Given the description of an element on the screen output the (x, y) to click on. 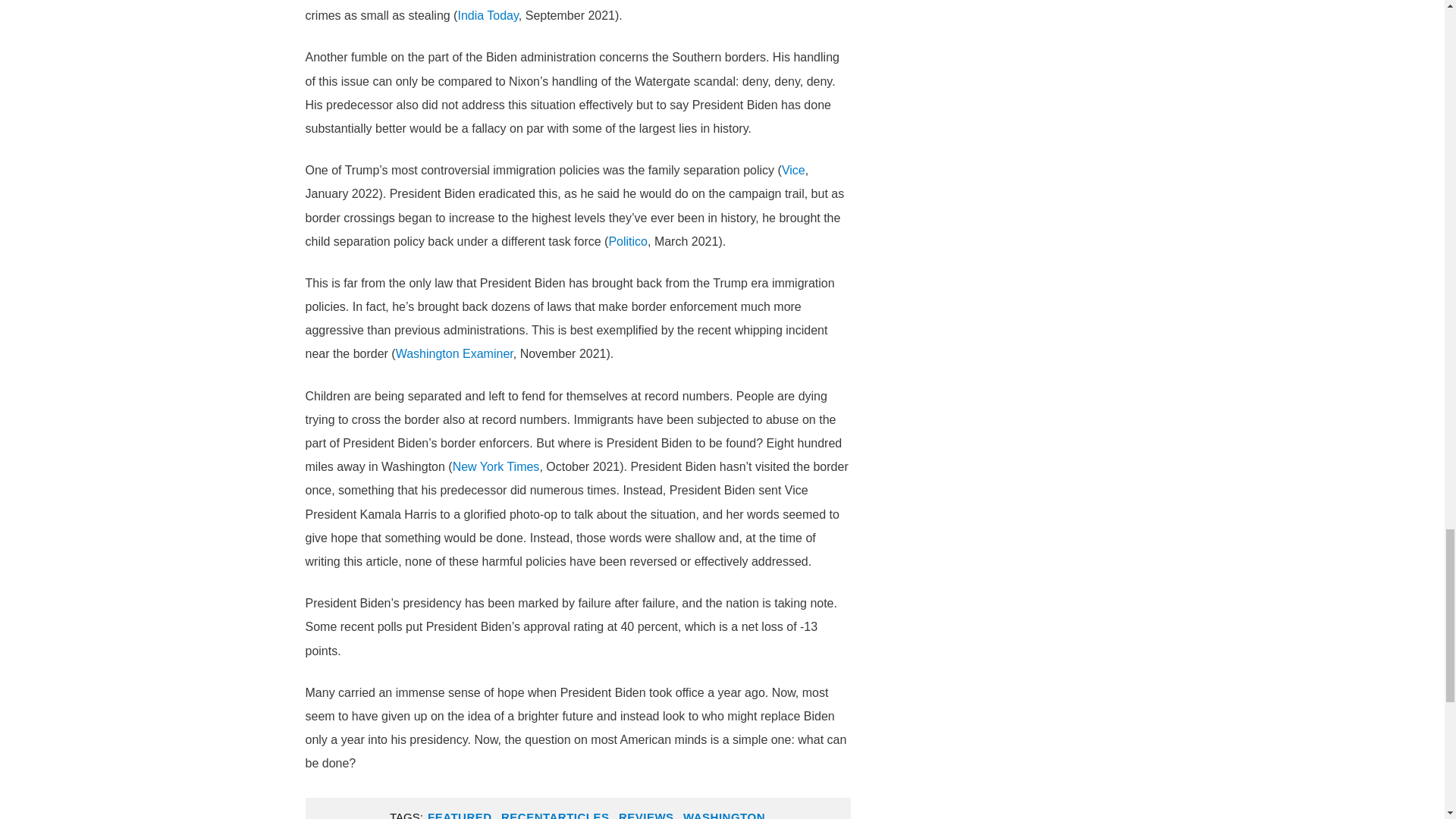
Politico (627, 241)
Vice (793, 169)
Washington Examiner (454, 353)
New York Times (496, 466)
FEATURED (459, 812)
India Today (487, 15)
